Given the description of an element on the screen output the (x, y) to click on. 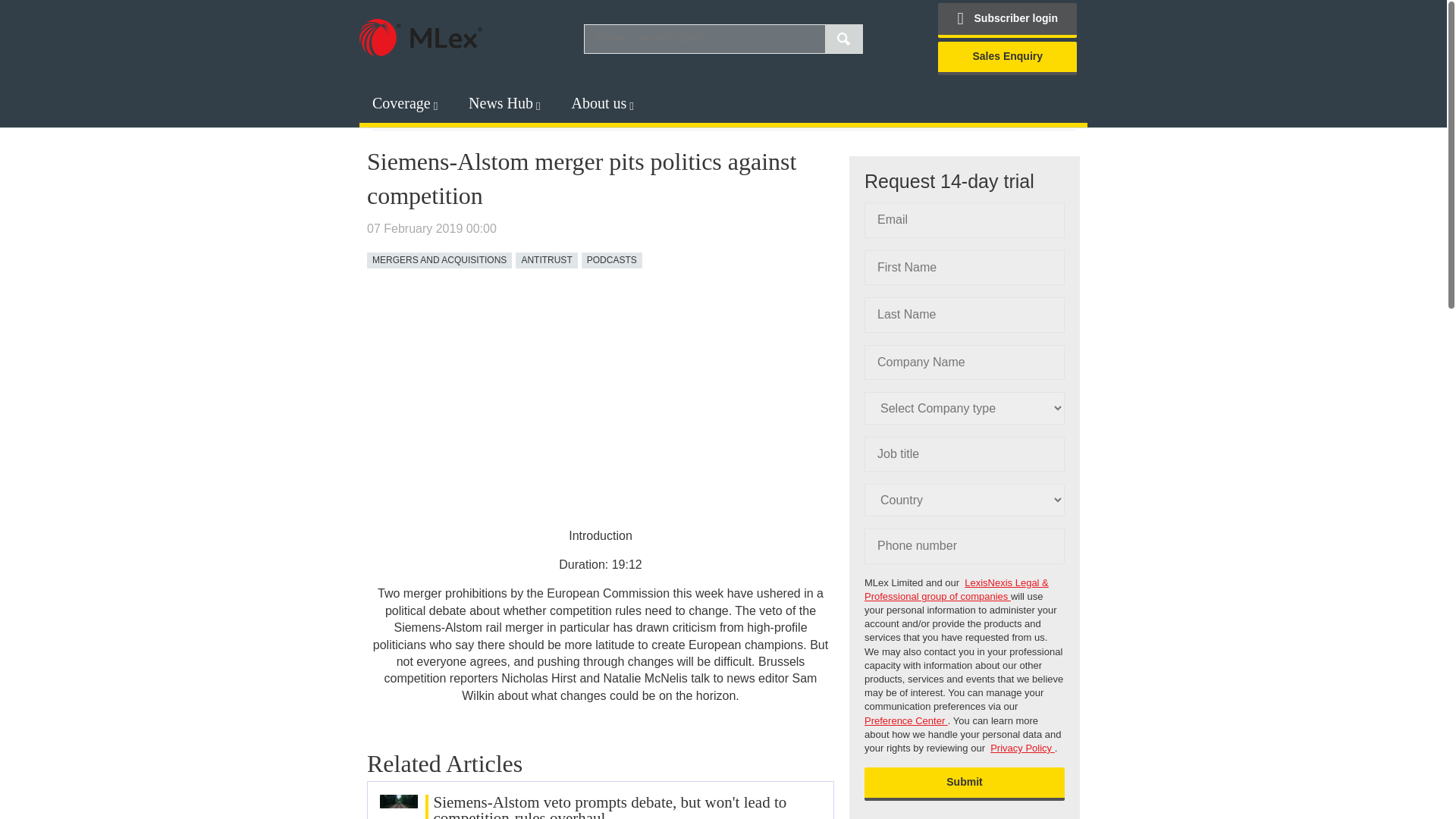
Search (844, 38)
Subscriber login (1007, 20)
Coverage (401, 103)
Sales Enquiry (1007, 58)
Submit (964, 783)
Search (844, 38)
News Hub (500, 103)
